Given the description of an element on the screen output the (x, y) to click on. 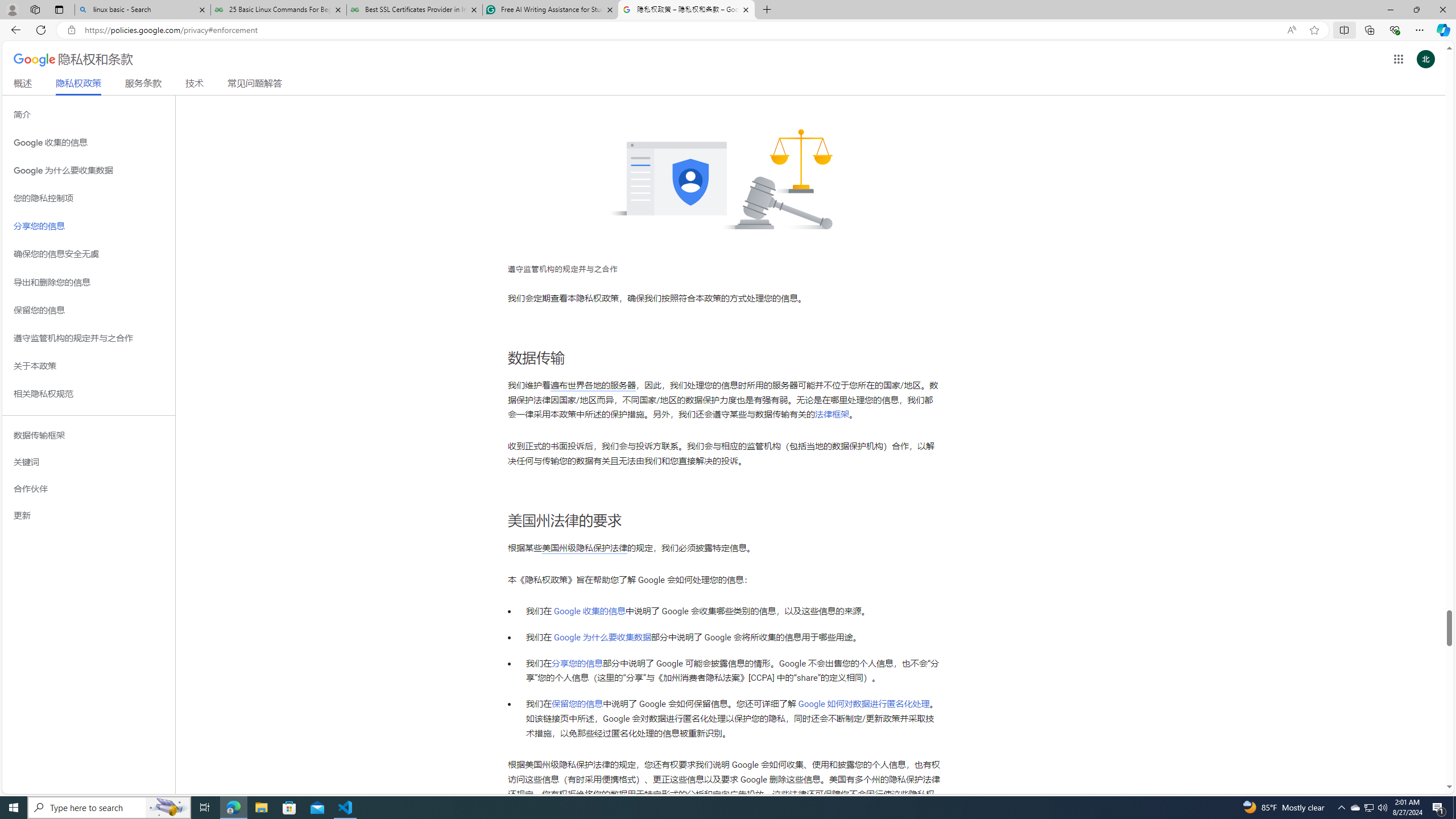
linux basic - Search (142, 9)
25 Basic Linux Commands For Beginners - GeeksforGeeks (277, 9)
App bar (728, 29)
Free AI Writing Assistance for Students | Grammarly (550, 9)
Address and search bar (680, 29)
Best SSL Certificates Provider in India - GeeksforGeeks (414, 9)
